Given the description of an element on the screen output the (x, y) to click on. 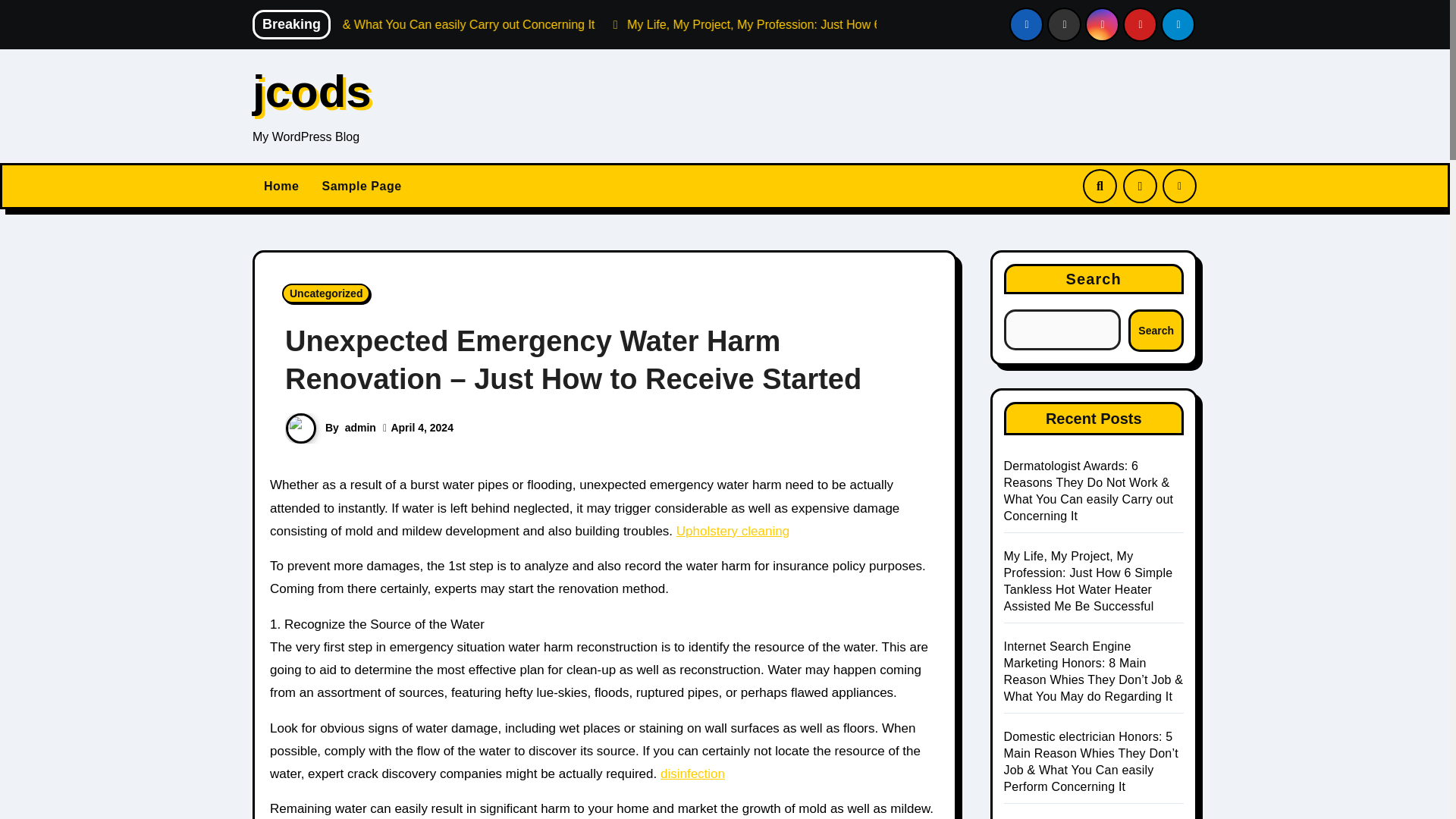
Upholstery cleaning (733, 531)
admin (360, 427)
Home (280, 187)
jcods (311, 91)
April 4, 2024 (421, 427)
Sample Page (361, 187)
disinfection (693, 773)
Home (280, 187)
Uncategorized (325, 293)
